Given the description of an element on the screen output the (x, y) to click on. 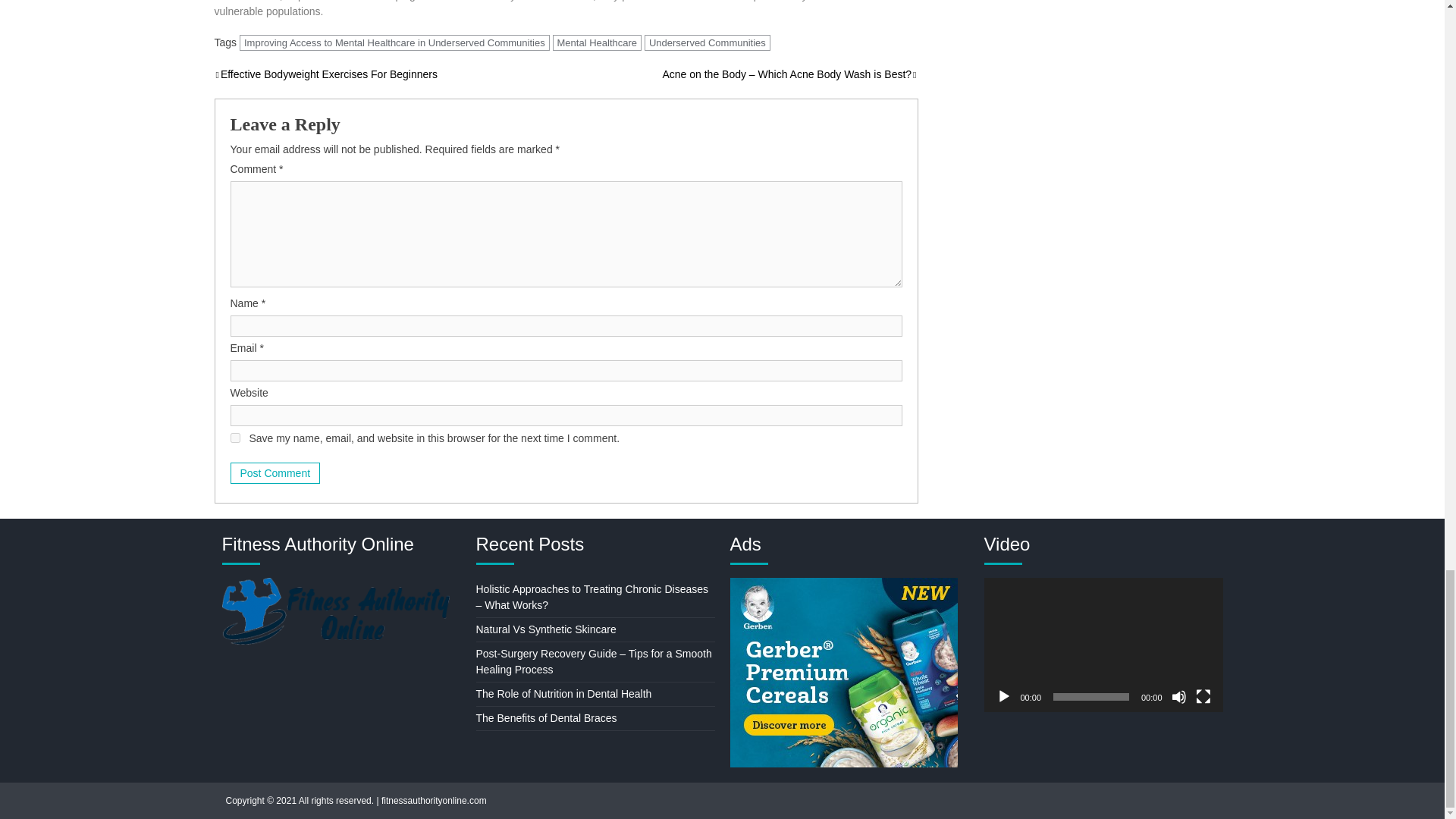
Fullscreen (1202, 696)
yes (235, 438)
Post Comment (275, 473)
Play (1003, 696)
Mute (1178, 696)
